Given the description of an element on the screen output the (x, y) to click on. 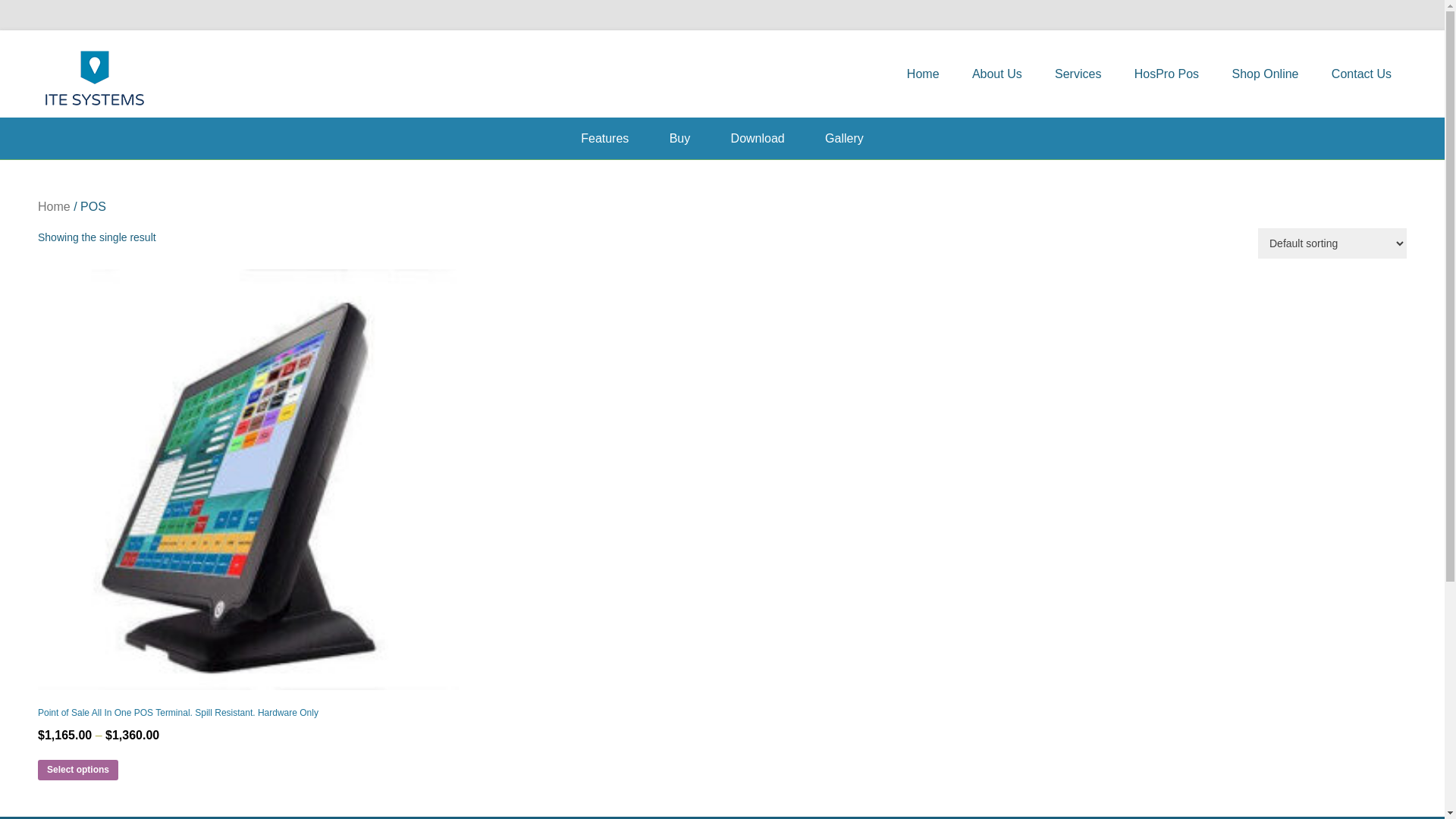
Services Element type: text (1077, 73)
Search Element type: text (32, 15)
Home Element type: text (53, 206)
Shop Online Element type: text (1264, 73)
Skip to content Element type: text (921, 46)
Gallery Element type: text (844, 138)
Features Element type: text (604, 138)
HosPro Pos Element type: text (1166, 73)
Buy Element type: text (679, 138)
ITE Systems and Solutions Element type: text (337, 69)
Download Element type: text (757, 138)
About Us Element type: text (997, 73)
ITE Systems and Solutions Element type: hover (94, 77)
Select options Element type: text (77, 769)
Home Element type: text (922, 73)
Contact Us Element type: text (1361, 73)
